Given the description of an element on the screen output the (x, y) to click on. 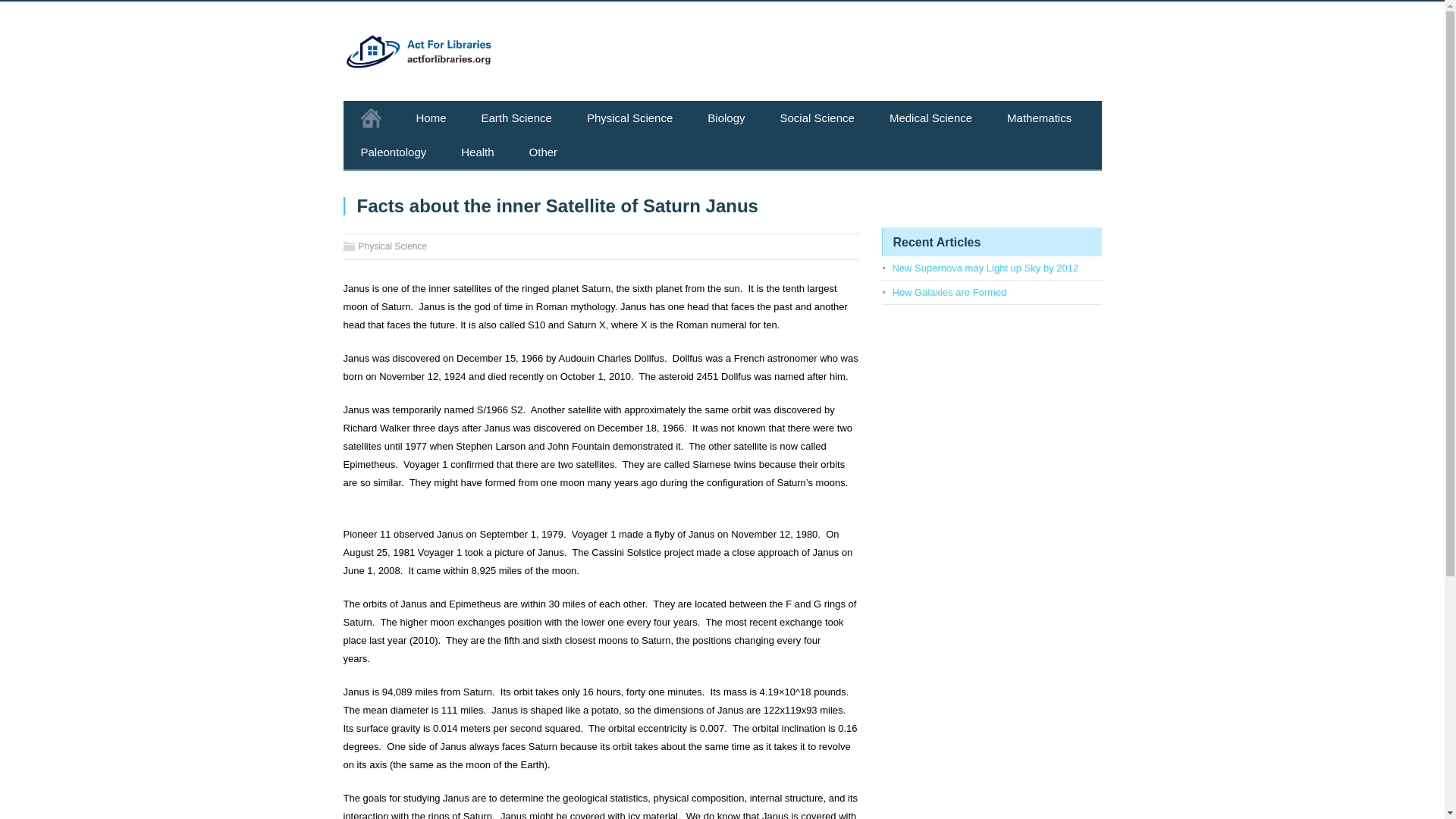
Medical Science (931, 117)
Earth Science (516, 117)
Mathematics (1039, 117)
Social Science (817, 117)
New Supernova may Light up Sky by 2012 (984, 267)
How Galaxies are Formed (948, 292)
Physical Science (629, 117)
Biology (725, 117)
Other (543, 151)
Home (431, 117)
Paleontology (393, 151)
Health (477, 151)
Physical Science (392, 245)
